Given the description of an element on the screen output the (x, y) to click on. 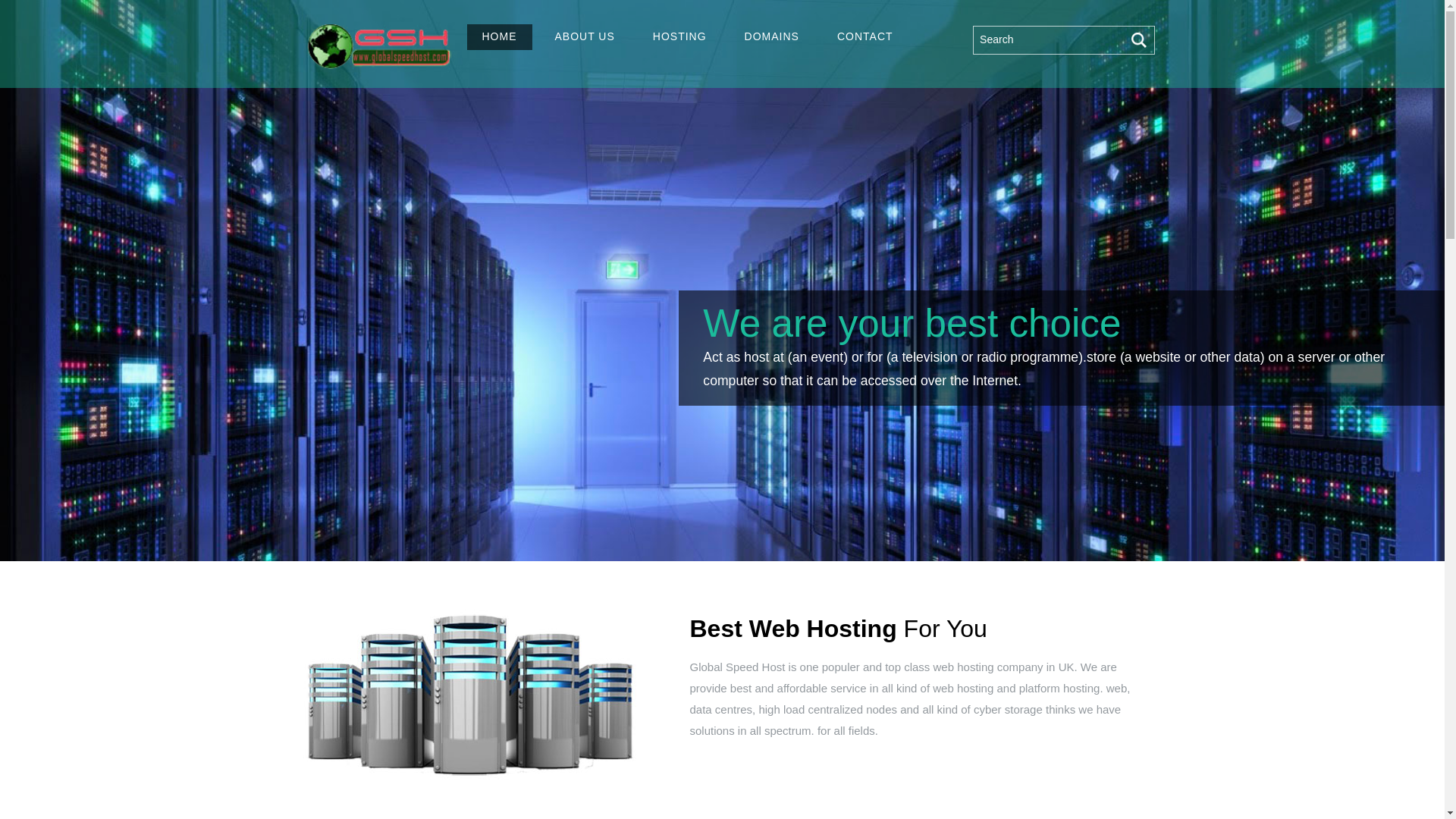
Search (1063, 39)
HOSTING (679, 36)
DOMAINS (771, 36)
ABOUT US (585, 36)
HOSTING (679, 36)
HOME (499, 36)
CONTACT (865, 36)
